Given the description of an element on the screen output the (x, y) to click on. 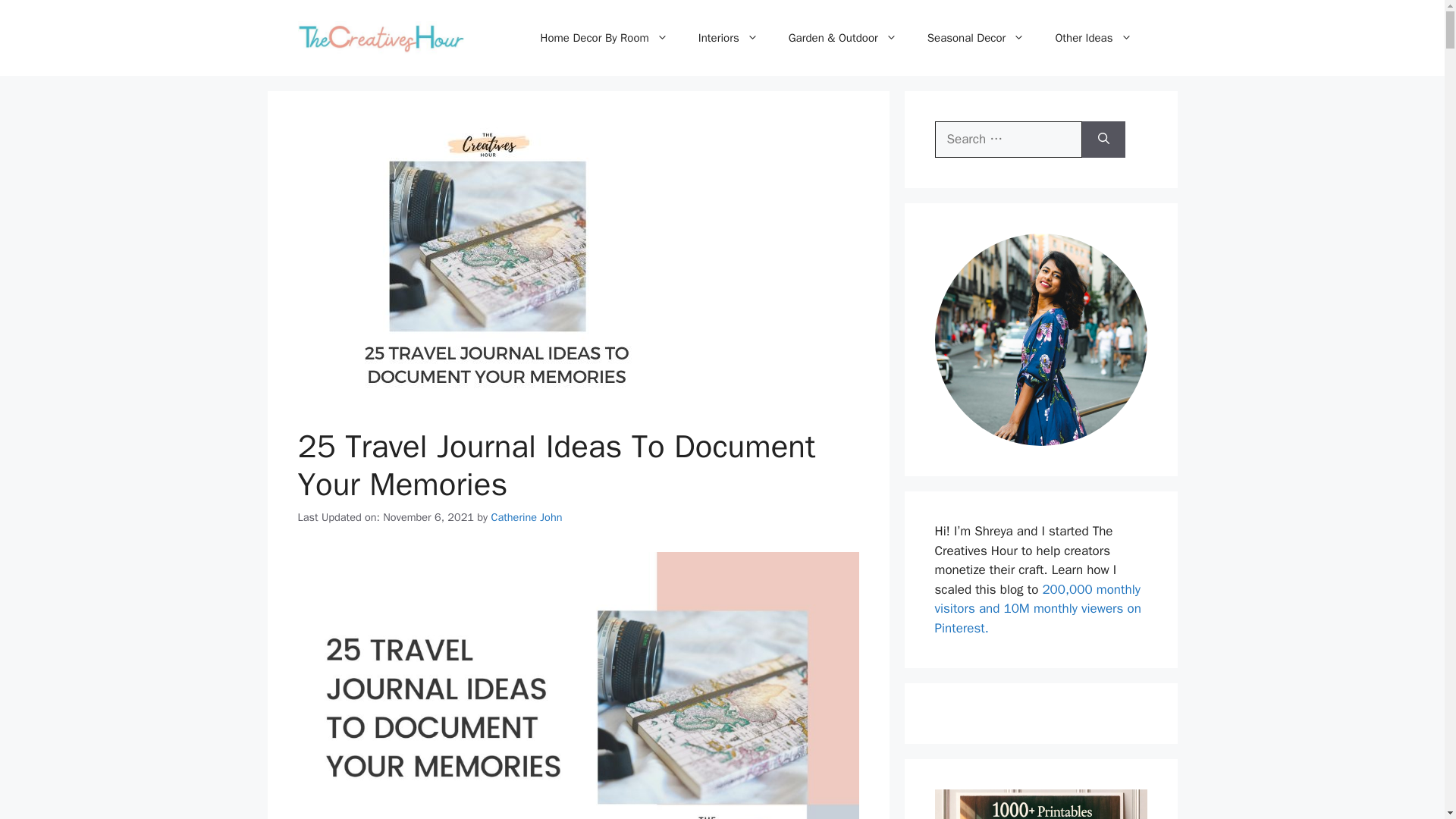
Other Ideas (1093, 37)
View all posts by Catherine John (526, 517)
Interiors (727, 37)
Home Decor By Room (603, 37)
Seasonal Decor (976, 37)
Search for: (1007, 139)
